Given the description of an element on the screen output the (x, y) to click on. 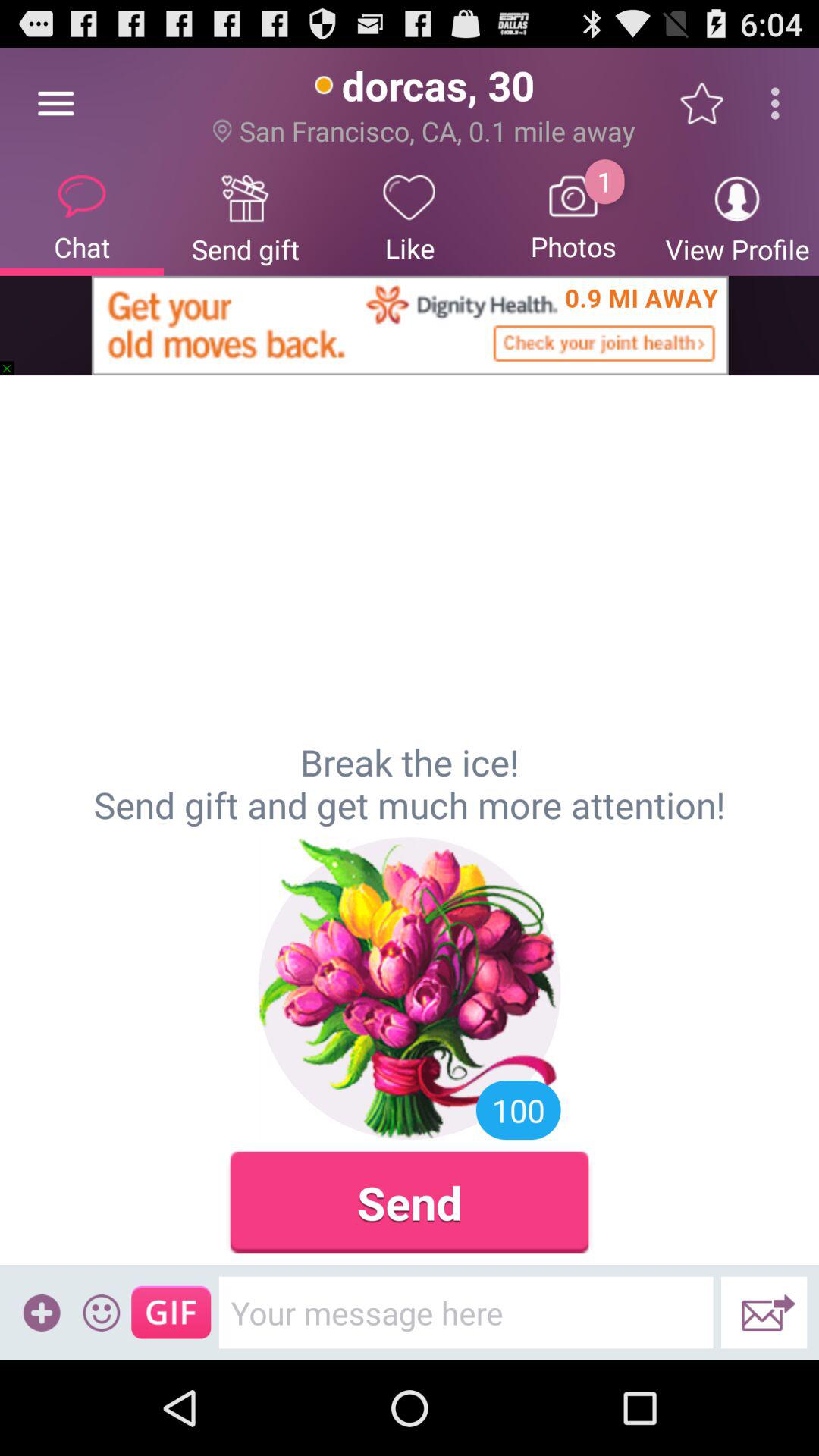
turn off icon below send item (465, 1312)
